Given the description of an element on the screen output the (x, y) to click on. 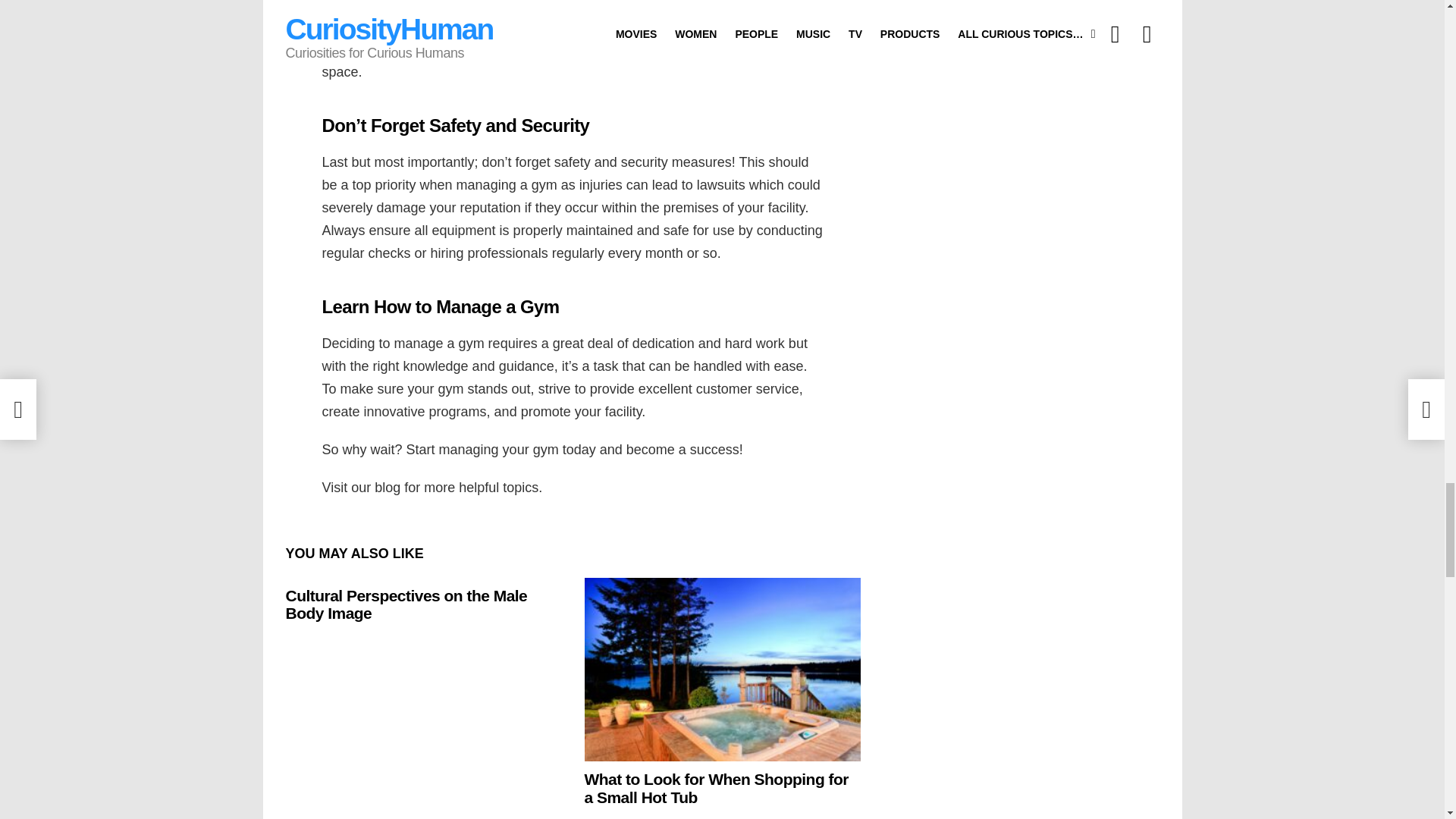
What to Look for When Shopping for a Small Hot Tub (721, 670)
